Given the description of an element on the screen output the (x, y) to click on. 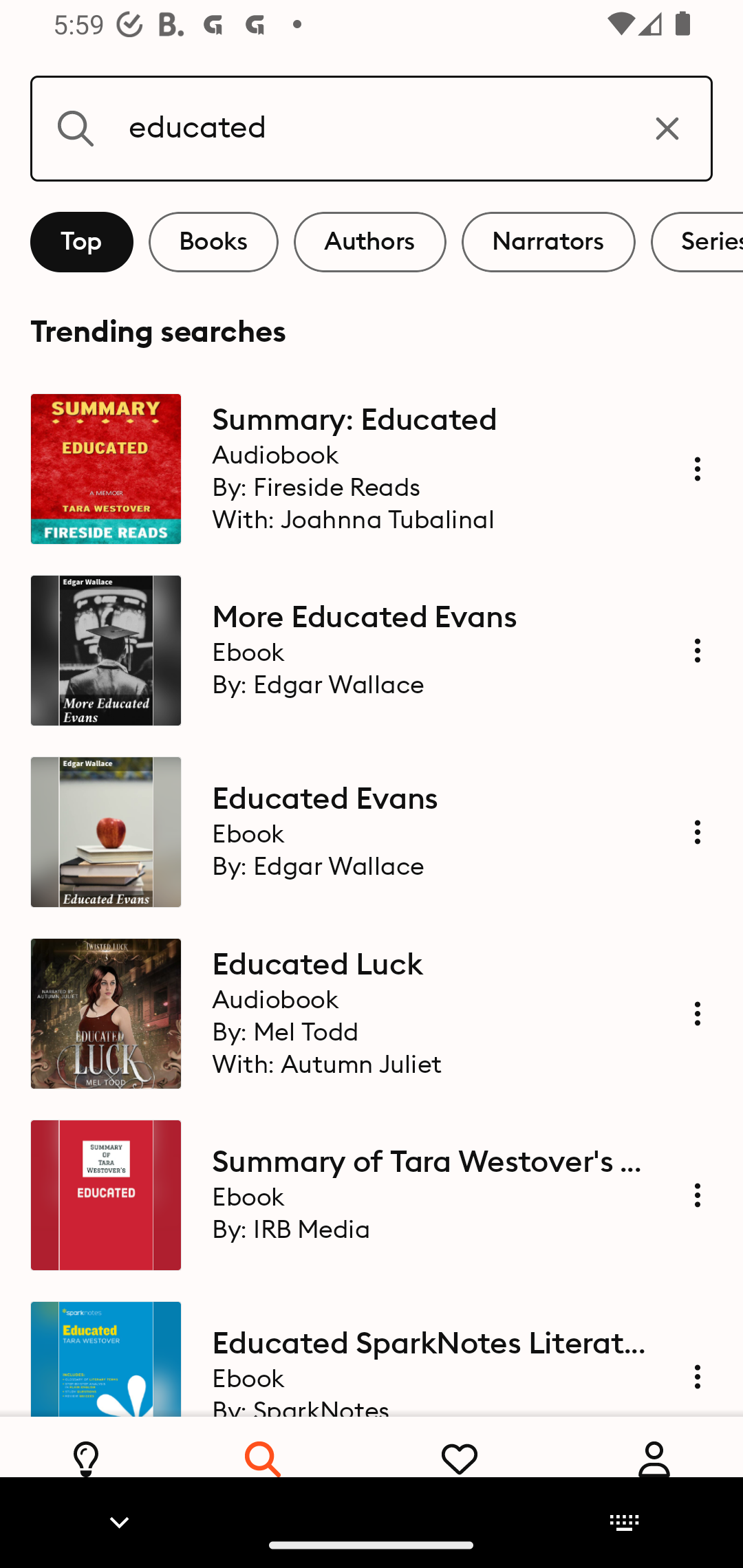
educated (371, 128)
Top (81, 241)
Books (213, 241)
Authors (369, 241)
Narrators (548, 241)
Series (696, 241)
